Given the description of an element on the screen output the (x, y) to click on. 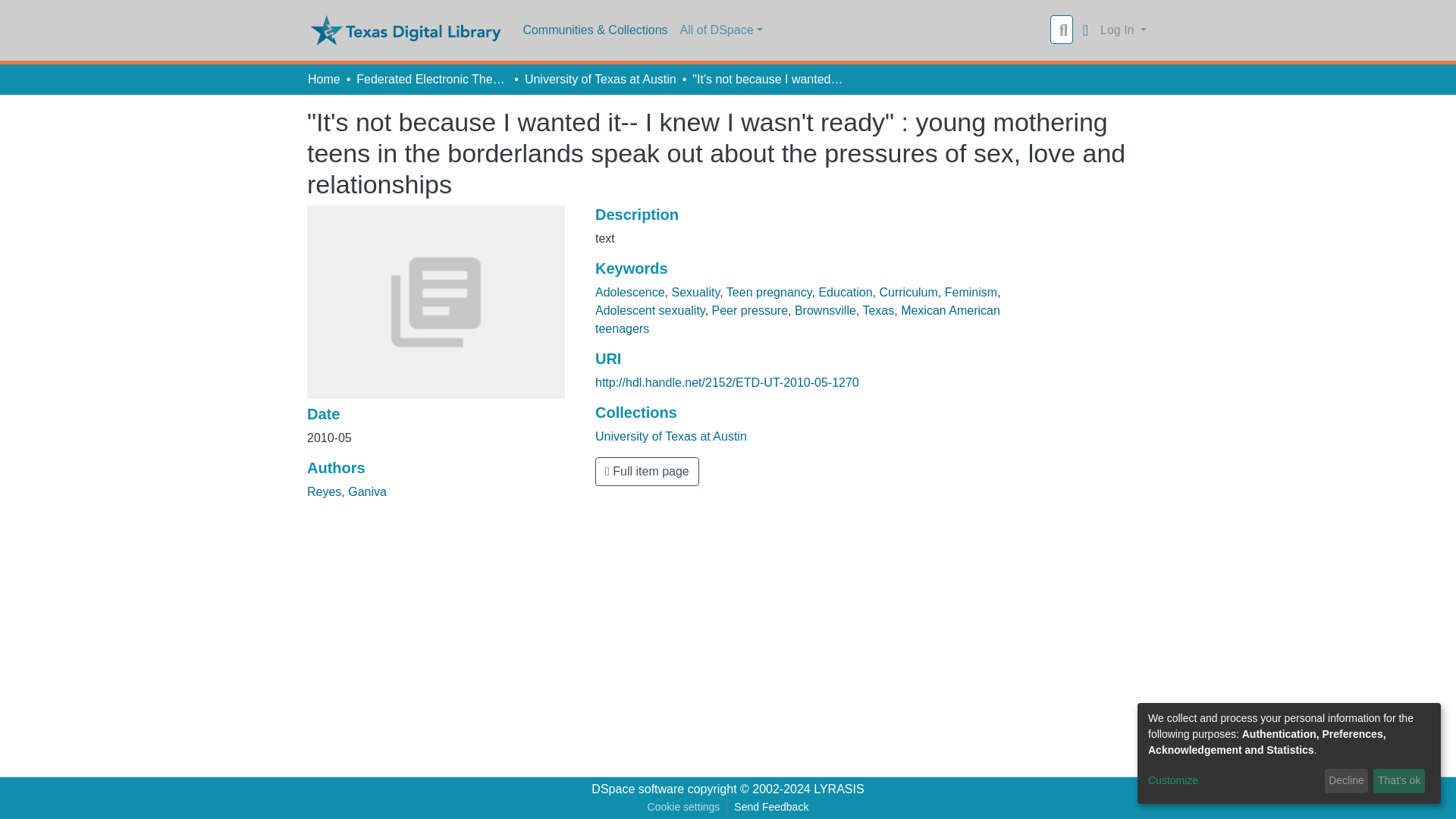
Feminism (970, 291)
Sexuality (695, 291)
All of DSpace (721, 30)
Home (323, 79)
Full item page (646, 471)
Reyes, Ganiva (347, 491)
Federated Electronic Theses and Dissertations (432, 79)
Customize (1233, 780)
Curriculum (908, 291)
Search (1063, 30)
